Given the description of an element on the screen output the (x, y) to click on. 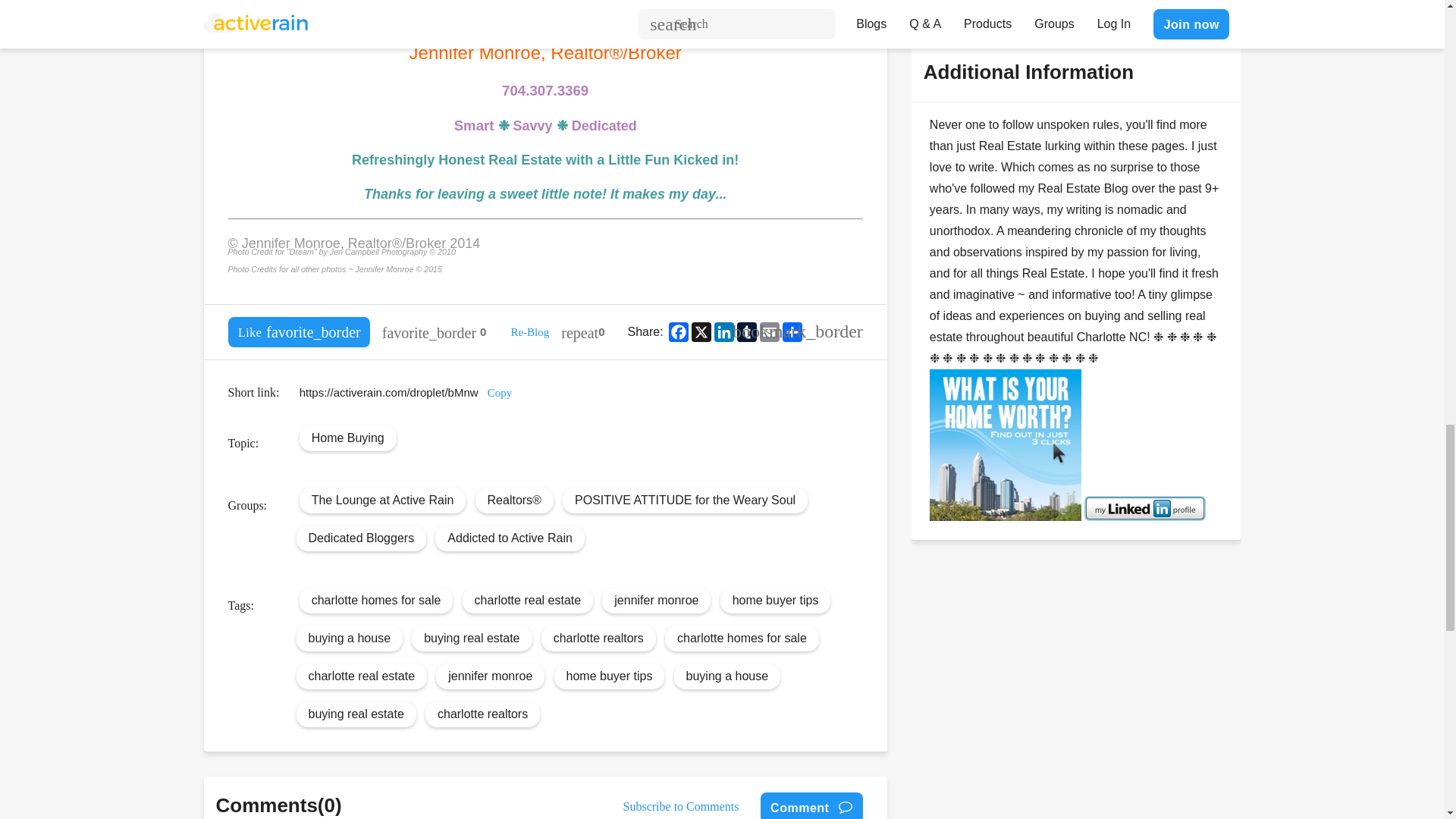
Home Buying (347, 437)
The Lounge at Active Rain (382, 499)
LinkedIn (724, 332)
This entry hasn't been re-blogged (582, 331)
Tumblr (746, 332)
Facebook (678, 332)
Email (769, 332)
Copy (499, 392)
repeat 0 (582, 331)
X (701, 332)
